Given the description of an element on the screen output the (x, y) to click on. 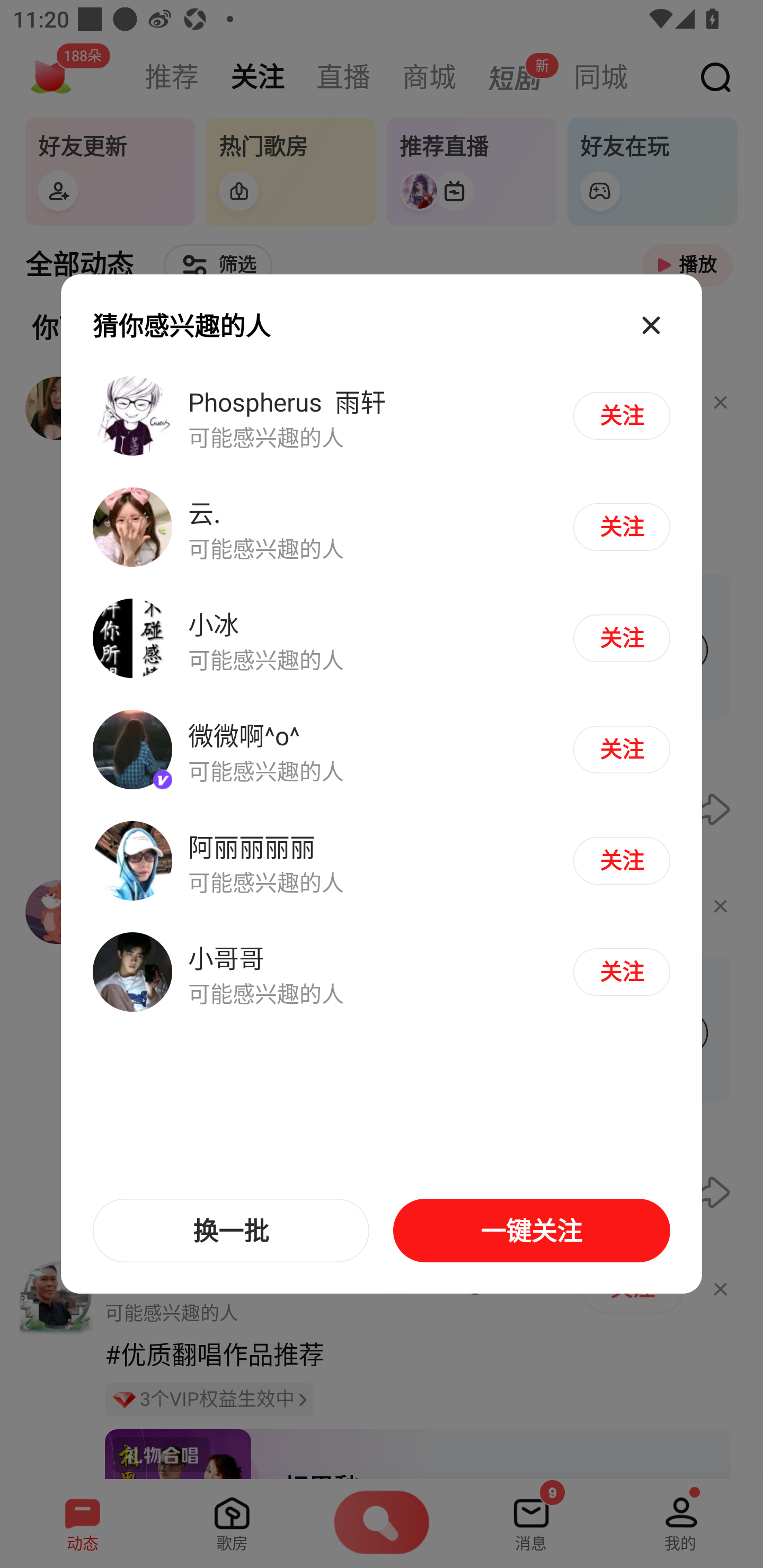
Phospherus  雨轩 可能感兴趣的人 关注 按钮 (381, 415)
关注 按钮 (621, 415)
云. 可能感兴趣的人 关注 按钮 (381, 527)
关注 按钮 (621, 526)
小冰 可能感兴趣的人 关注 按钮 (381, 638)
关注 按钮 (621, 637)
微微啊^o^ 可能感兴趣的人 关注 按钮 (381, 749)
关注 按钮 (621, 749)
阿丽丽丽丽 可能感兴趣的人 关注 按钮 (381, 860)
关注 按钮 (621, 860)
小哥哥 可能感兴趣的人 关注 按钮 (381, 971)
关注 按钮 (621, 971)
换一批 按钮 (231, 1230)
一键关注 按钮 (530, 1230)
